Given the description of an element on the screen output the (x, y) to click on. 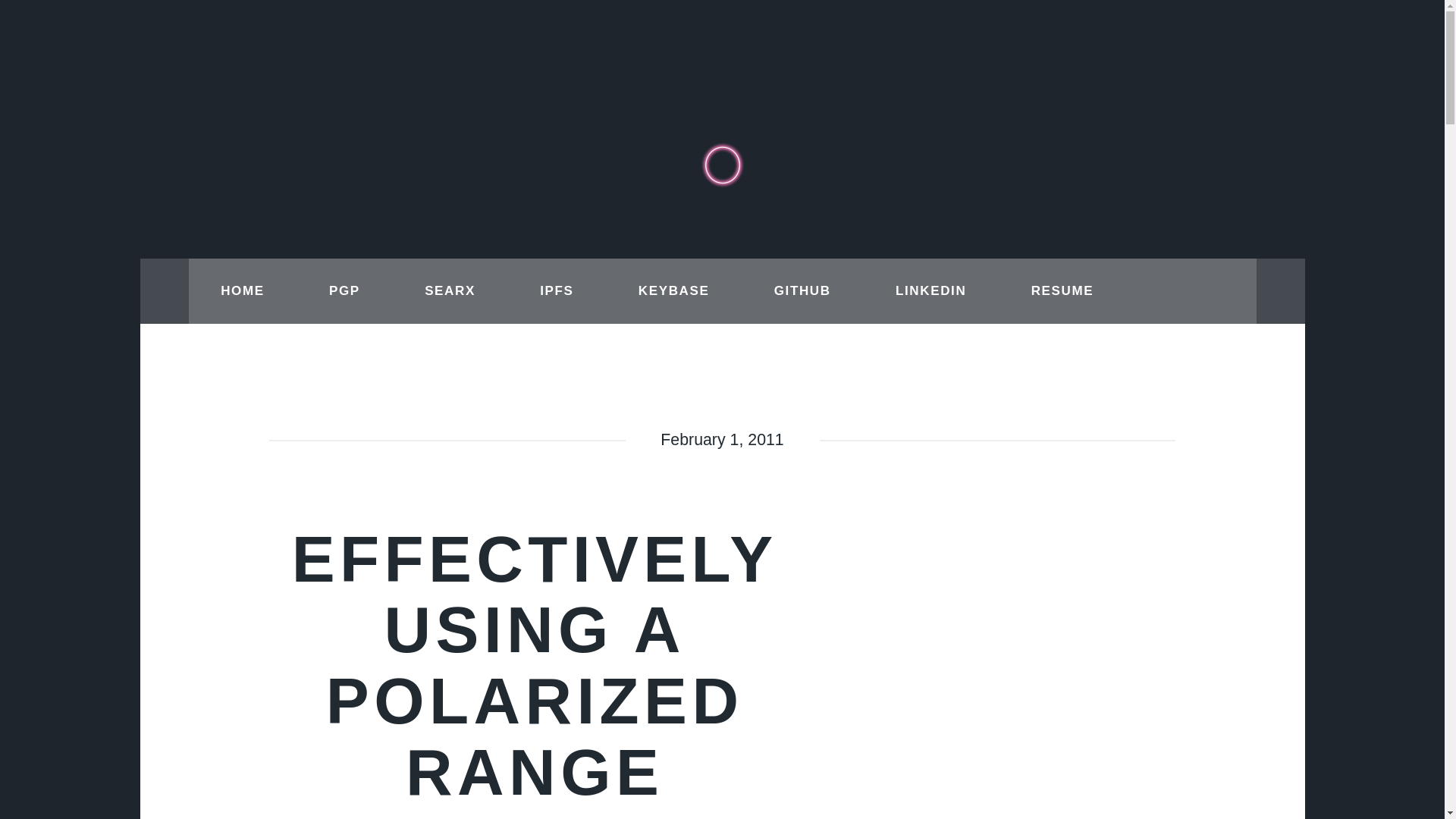
LINKEDIN (930, 290)
SEARX (448, 290)
KEYBASE (673, 290)
RESUME (1061, 290)
IPFS (557, 290)
GITHUB (802, 290)
PGP (344, 290)
HOME (242, 290)
